Given the description of an element on the screen output the (x, y) to click on. 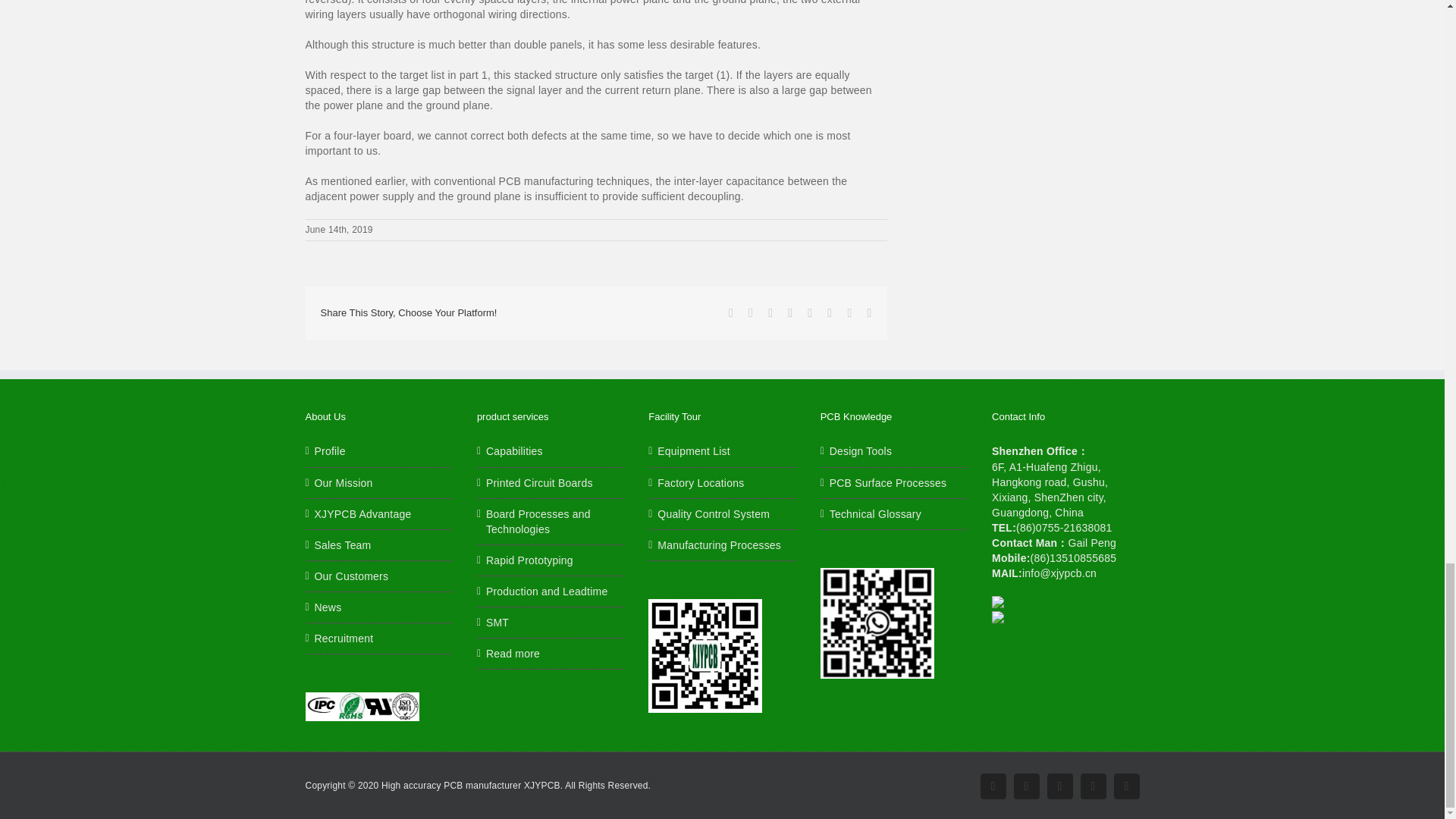
X (1058, 786)
Pinterest (1092, 786)
Flickr (1026, 786)
LinkedIn (1125, 786)
Facebook (992, 786)
